Given the description of an element on the screen output the (x, y) to click on. 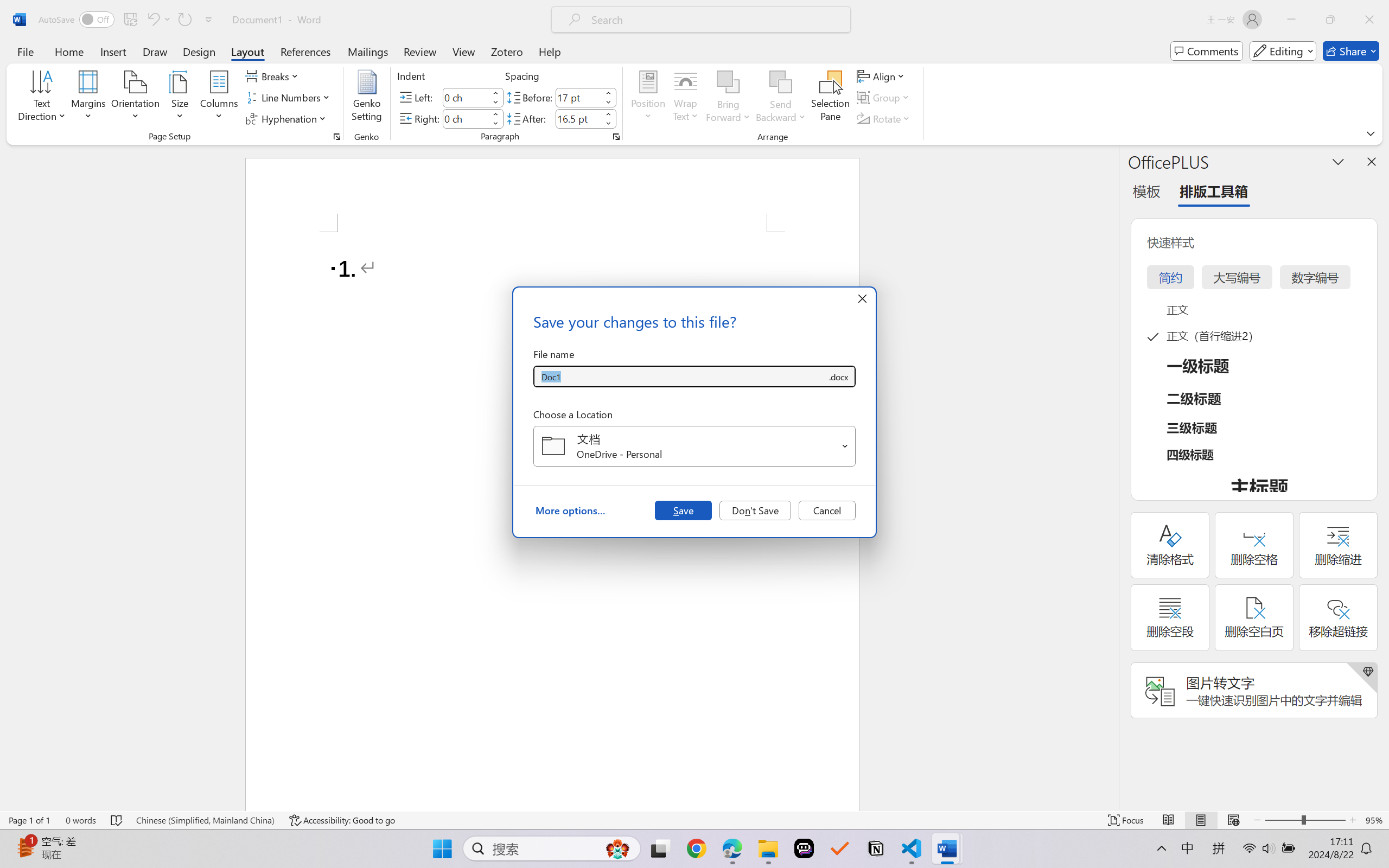
Align (881, 75)
Wrap Text (685, 97)
Columns (219, 97)
Group (884, 97)
